Given the description of an element on the screen output the (x, y) to click on. 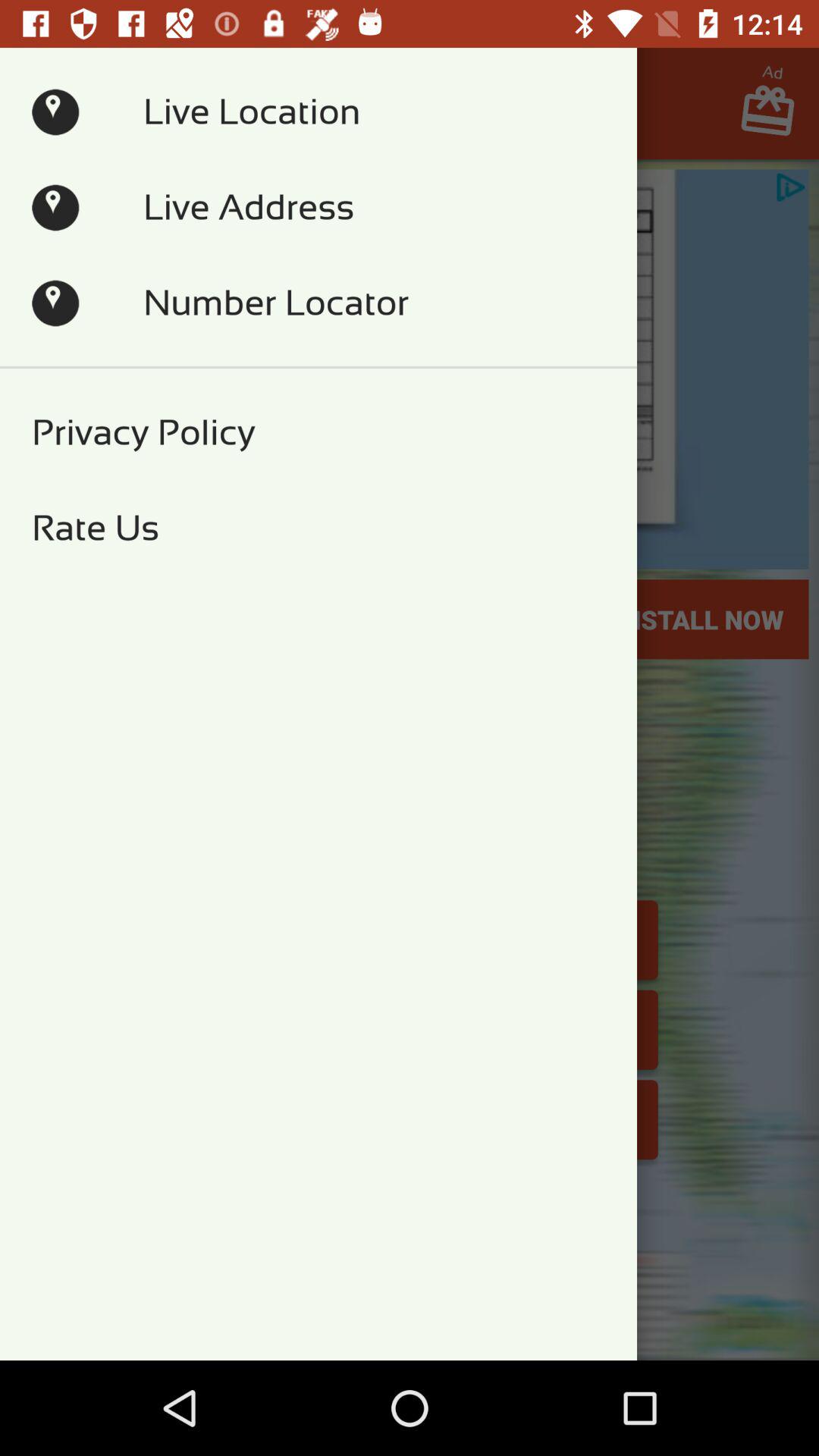
select the symbol just below ad at the right corner (775, 115)
